Given the description of an element on the screen output the (x, y) to click on. 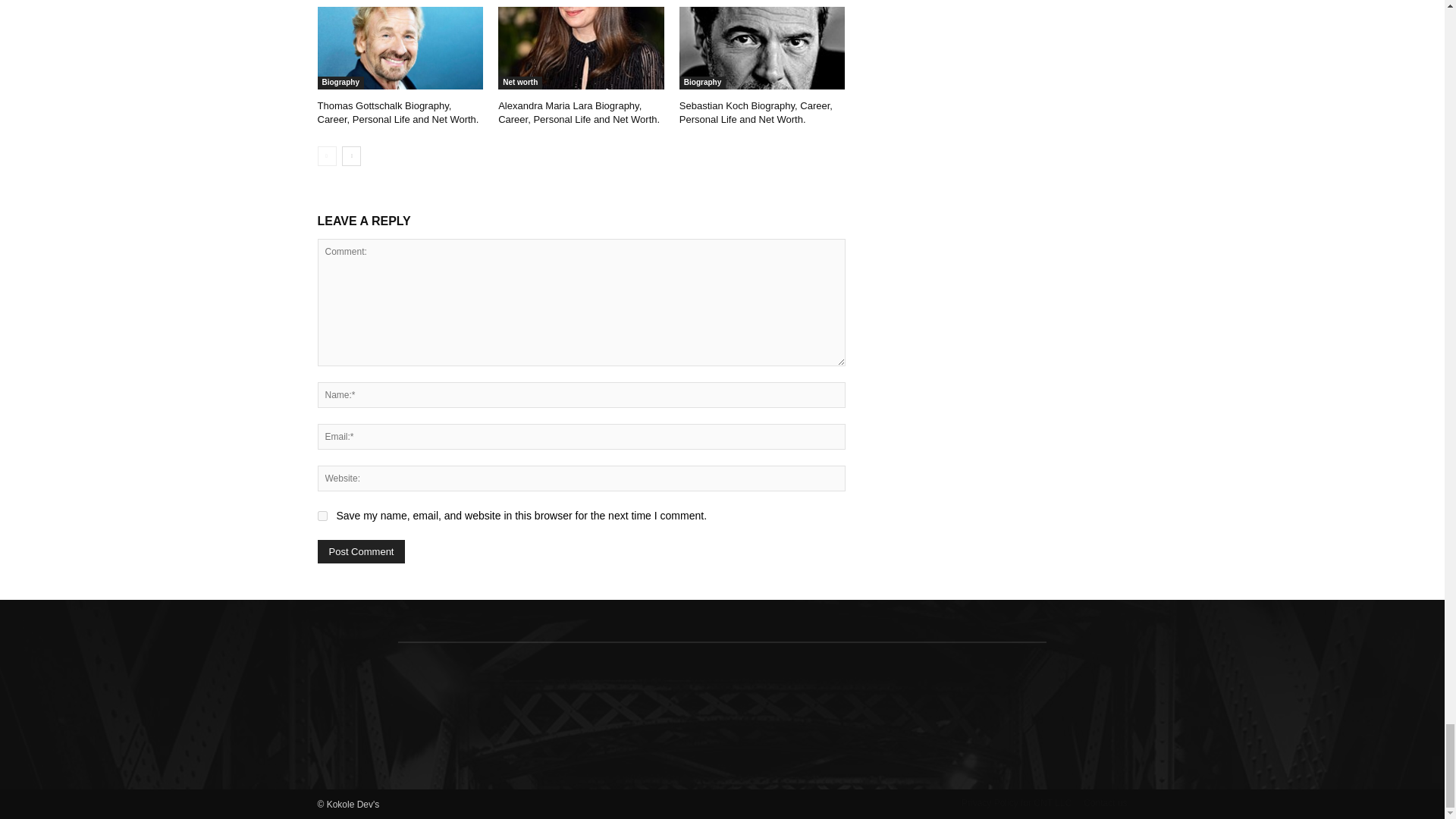
yes (321, 515)
Post Comment (360, 551)
